Given the description of an element on the screen output the (x, y) to click on. 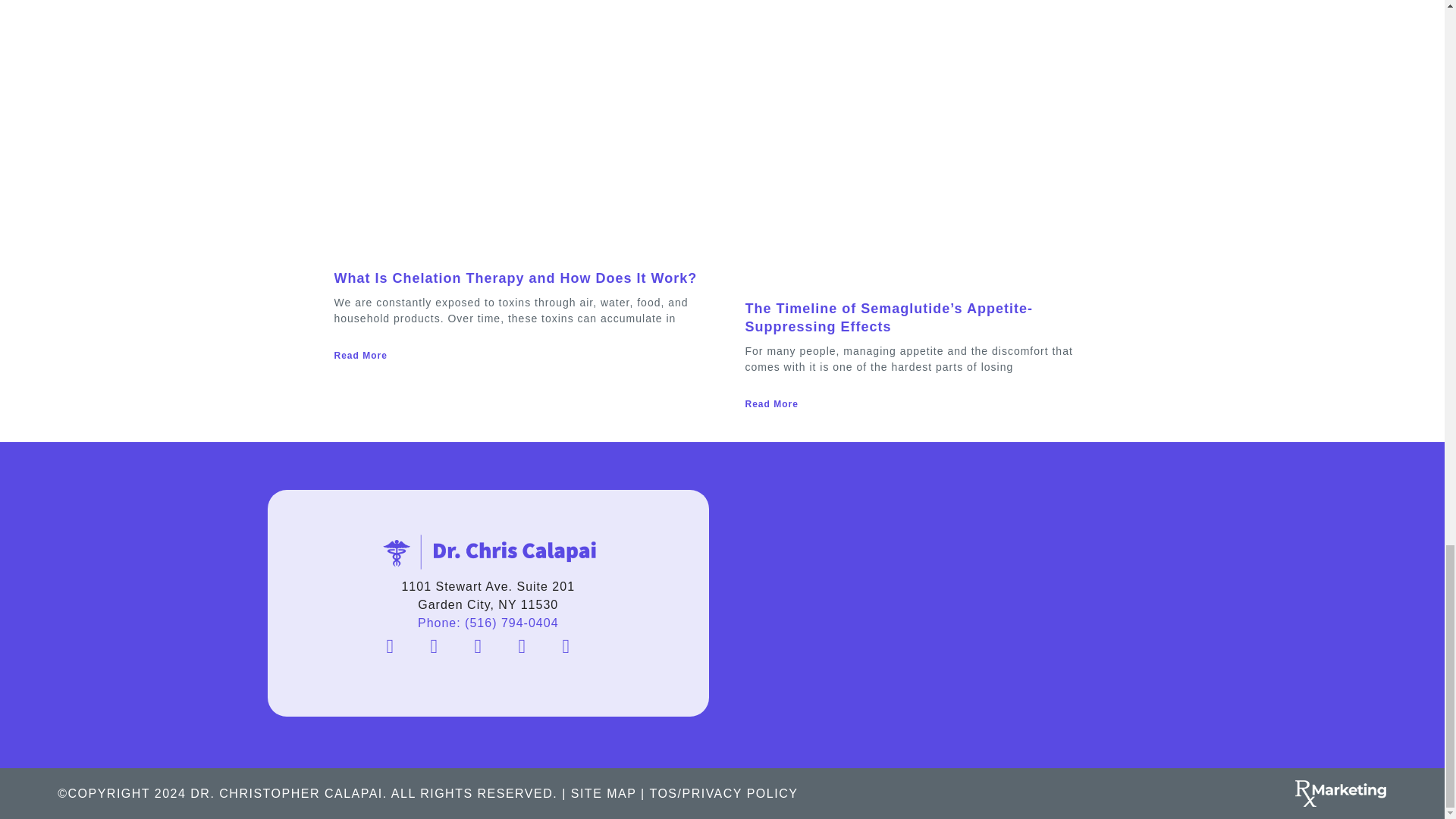
Google Map to Garden City Location (956, 603)
